Given the description of an element on the screen output the (x, y) to click on. 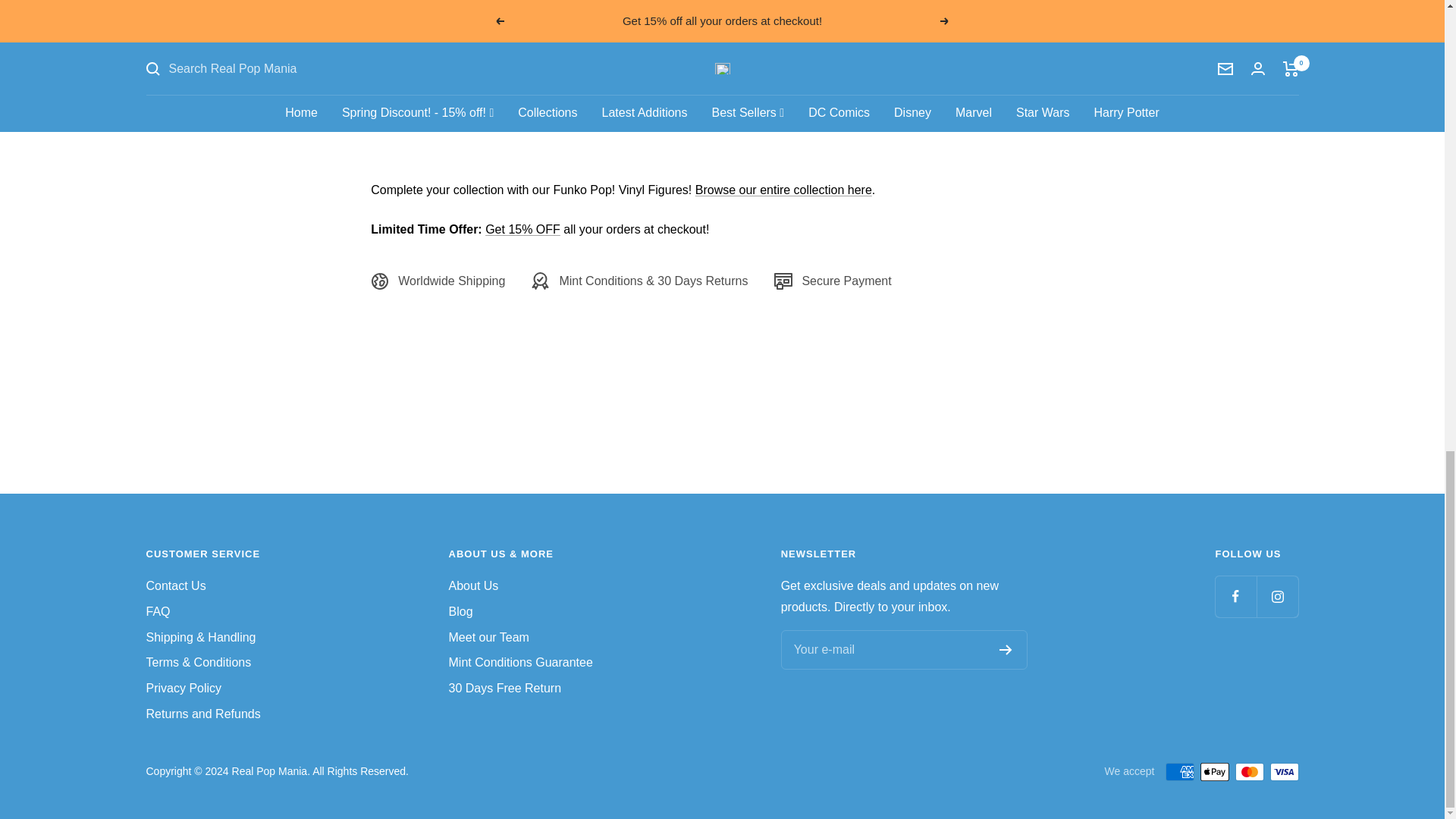
Register (1004, 649)
